Given the description of an element on the screen output the (x, y) to click on. 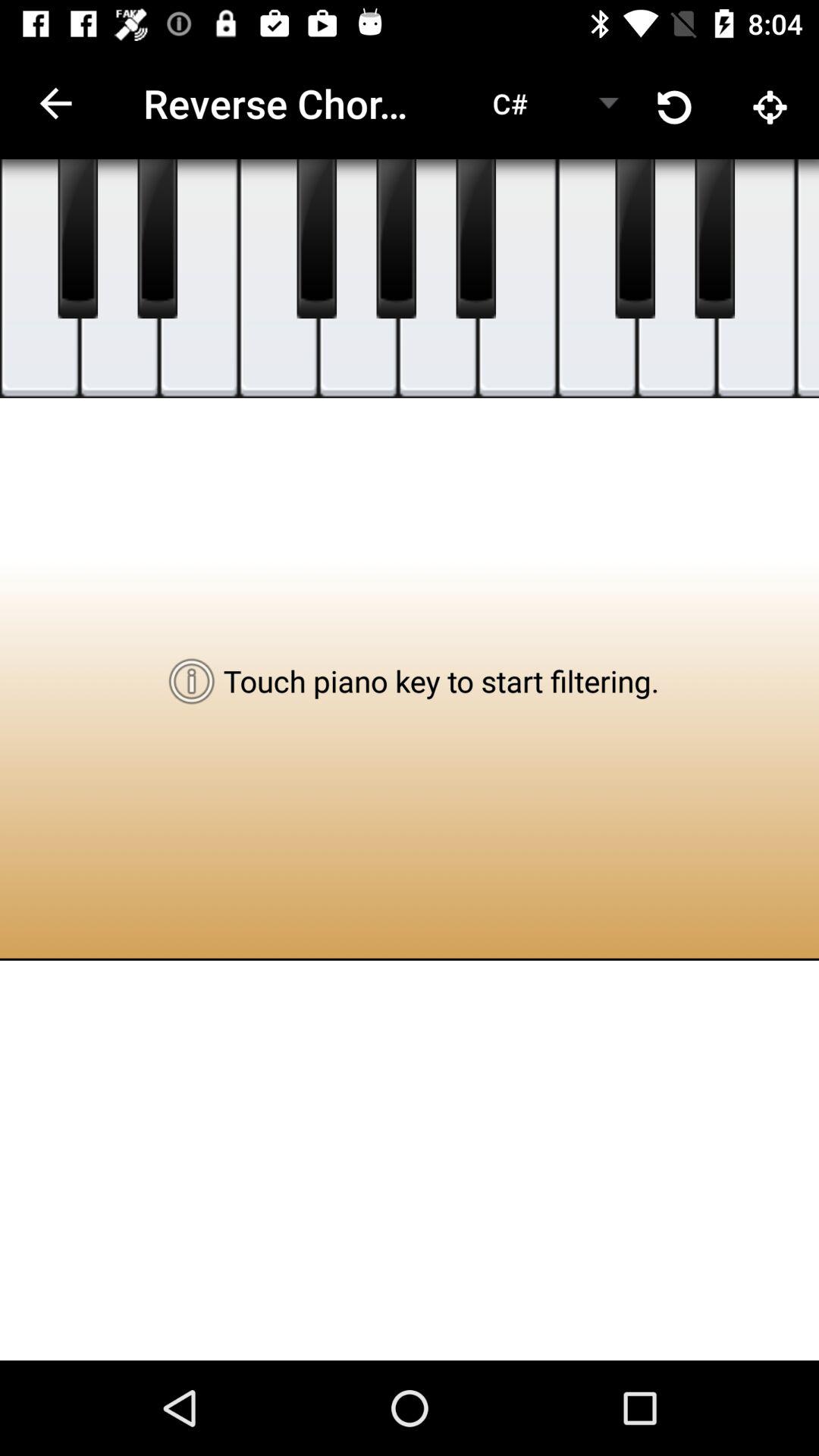
tap the icon above the touch piano key (437, 278)
